Given the description of an element on the screen output the (x, y) to click on. 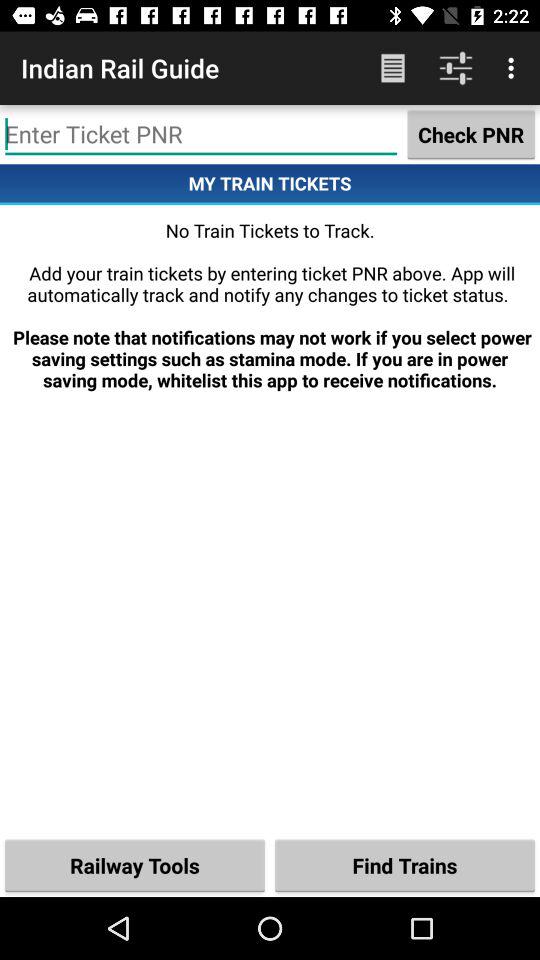
ticket entering space (201, 134)
